Given the description of an element on the screen output the (x, y) to click on. 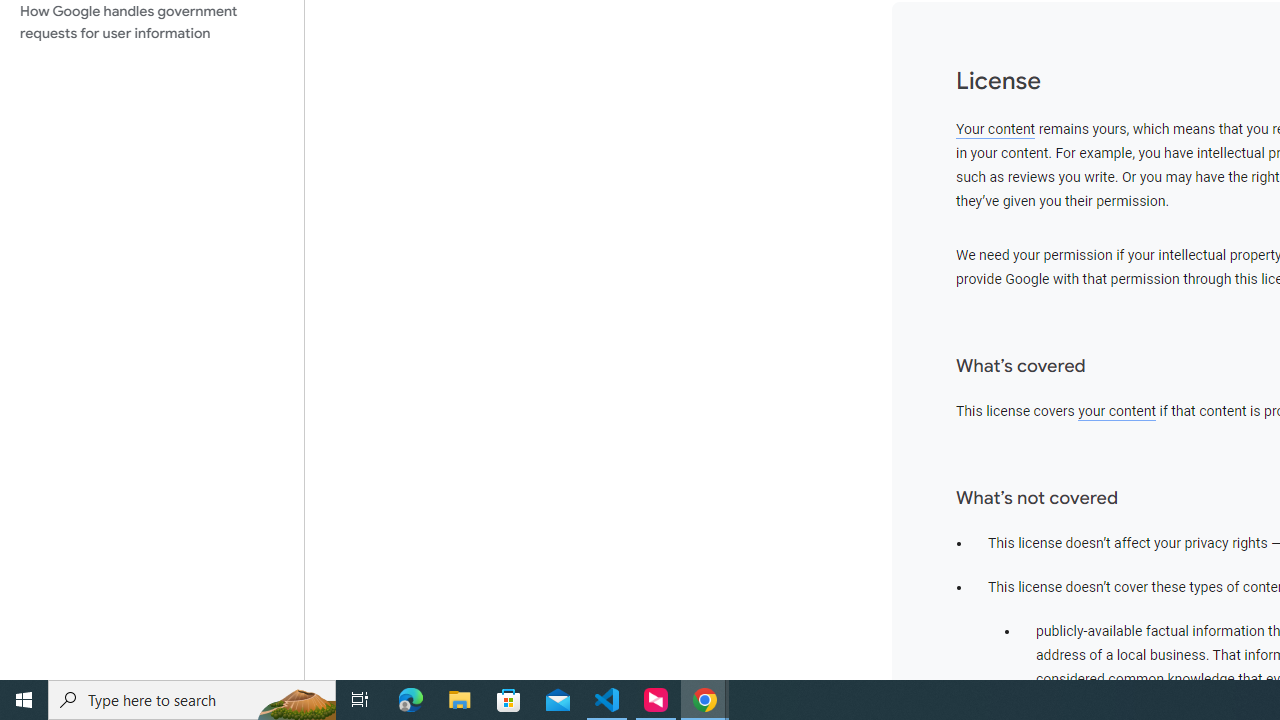
Your content (995, 129)
your content (1117, 411)
